Given the description of an element on the screen output the (x, y) to click on. 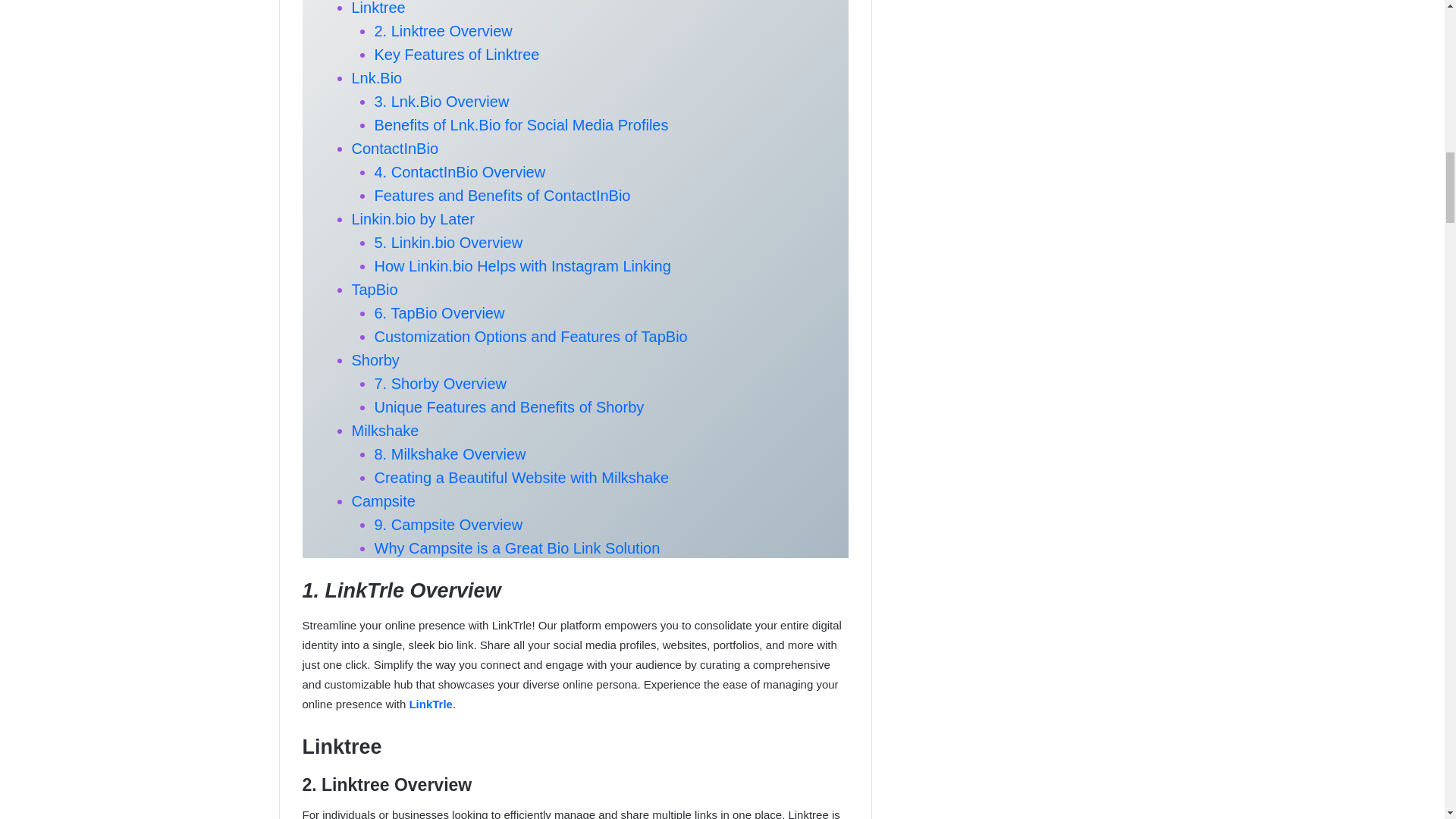
Linkin.bio by Later (413, 218)
Milkshake (385, 430)
5. Linkin.bio Overview (448, 242)
Key Features of Linktree (457, 54)
7. Shorby Overview (440, 383)
Lnk.Bio (377, 77)
Customization Options and Features of TapBio (530, 336)
TapBio (374, 289)
3. Lnk.Bio Overview (441, 101)
6. TapBio Overview (439, 312)
ContactInBio (395, 148)
Unique Features and Benefits of Shorby (509, 406)
2. Linktree Overview (443, 30)
Linktree (379, 7)
4. ContactInBio Overview (460, 171)
